Given the description of an element on the screen output the (x, y) to click on. 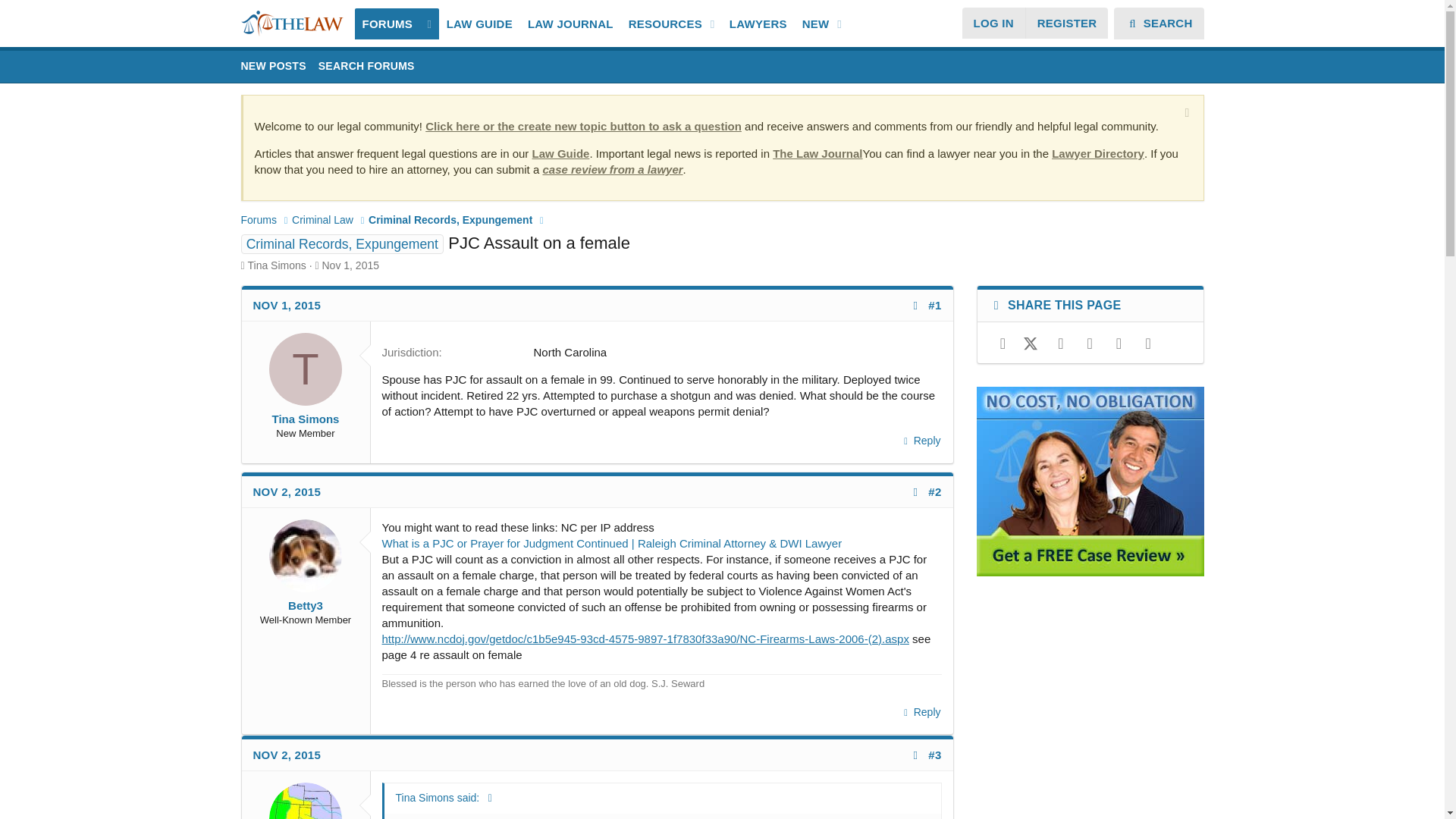
RESOURCES (662, 22)
NEW (811, 22)
SEARCH (1158, 23)
NEW POSTS (273, 66)
Reply, quoting this message (920, 712)
LAWYERS (721, 83)
LAW GUIDE (601, 22)
LOG IN (758, 22)
Nov 1, 2015 at 11:23 PM (479, 22)
SEARCH FORUMS (993, 22)
Nov 2, 2015 at 12:04 AM (286, 305)
Reply, quoting this message (366, 66)
Nov 1, 2015 at 11:23 PM (286, 754)
